Given the description of an element on the screen output the (x, y) to click on. 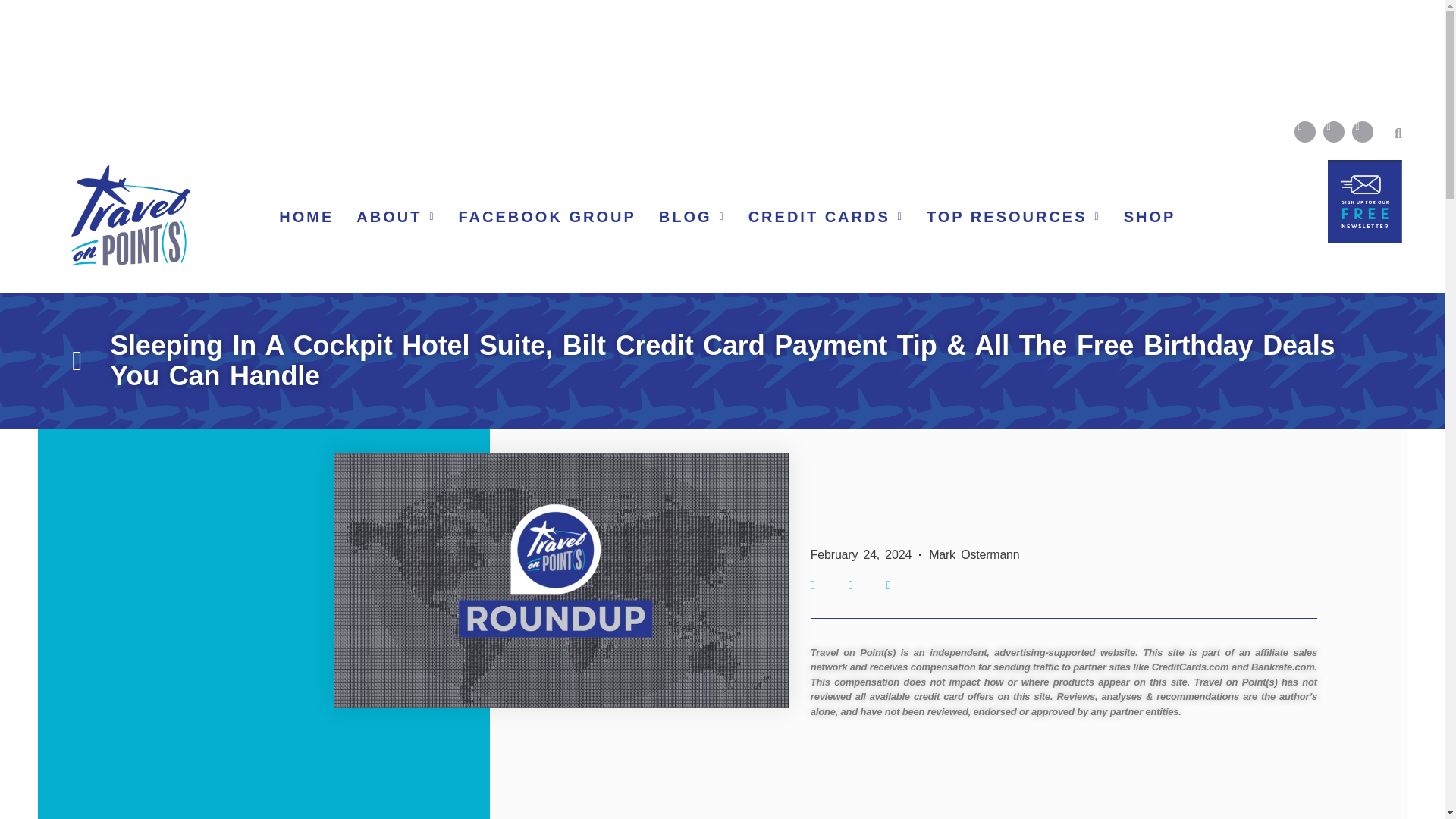
CREDIT CARDS (825, 216)
BLOG (691, 216)
TOP RESOURCES (1013, 216)
ABOUT (395, 216)
HOME (306, 216)
FACEBOOK GROUP (546, 216)
